Given the description of an element on the screen output the (x, y) to click on. 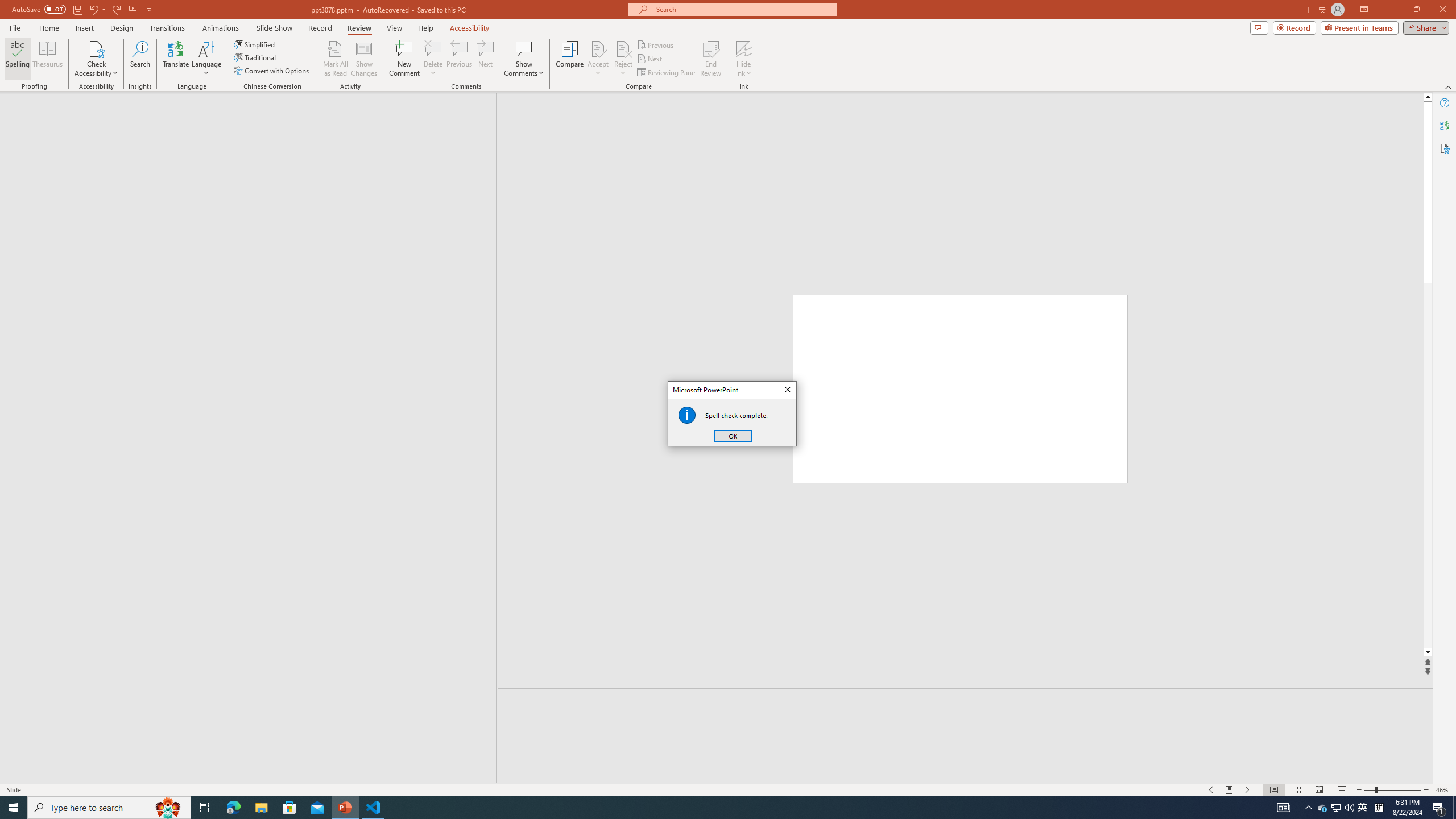
Microsoft Store (289, 807)
Insert (83, 28)
Close (786, 389)
Redo (117, 9)
Slide Show Previous On (1211, 790)
Traditional (255, 56)
Zoom (1392, 790)
Microsoft search (742, 9)
Class: Static (686, 415)
Microsoft Edge (233, 807)
OK (732, 435)
Page down (1427, 465)
Reject (622, 58)
